Given the description of an element on the screen output the (x, y) to click on. 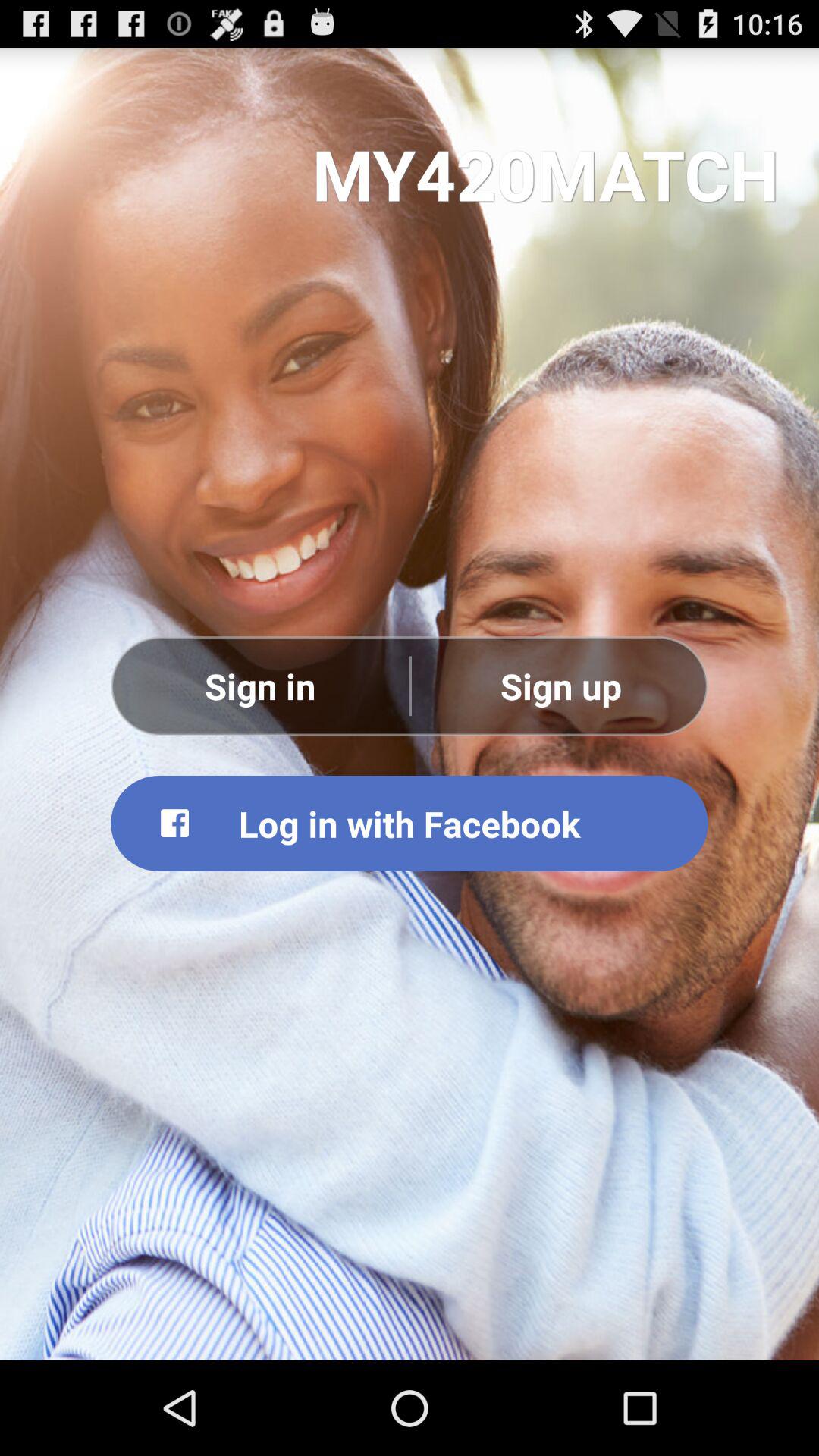
press the item on the right (559, 685)
